Given the description of an element on the screen output the (x, y) to click on. 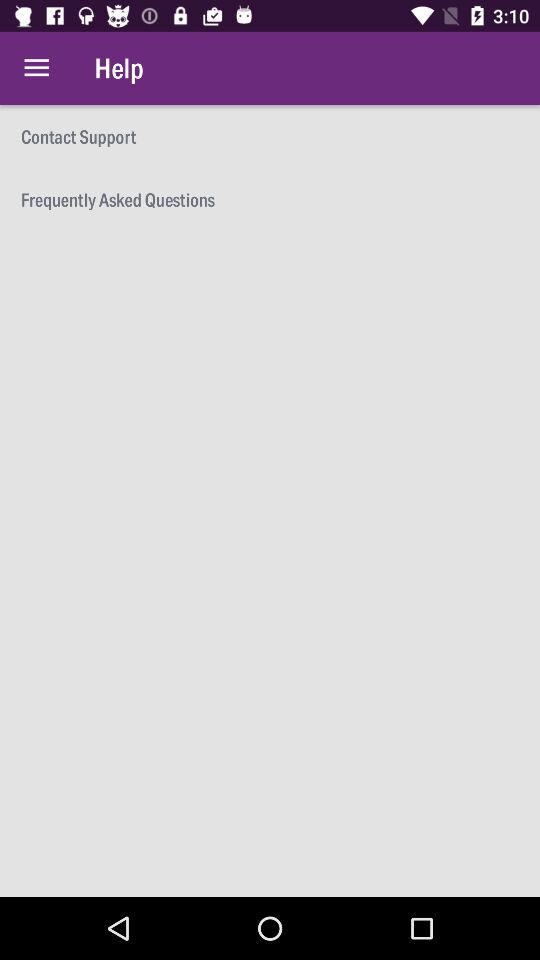
choose the item below the contact support (270, 198)
